Given the description of an element on the screen output the (x, y) to click on. 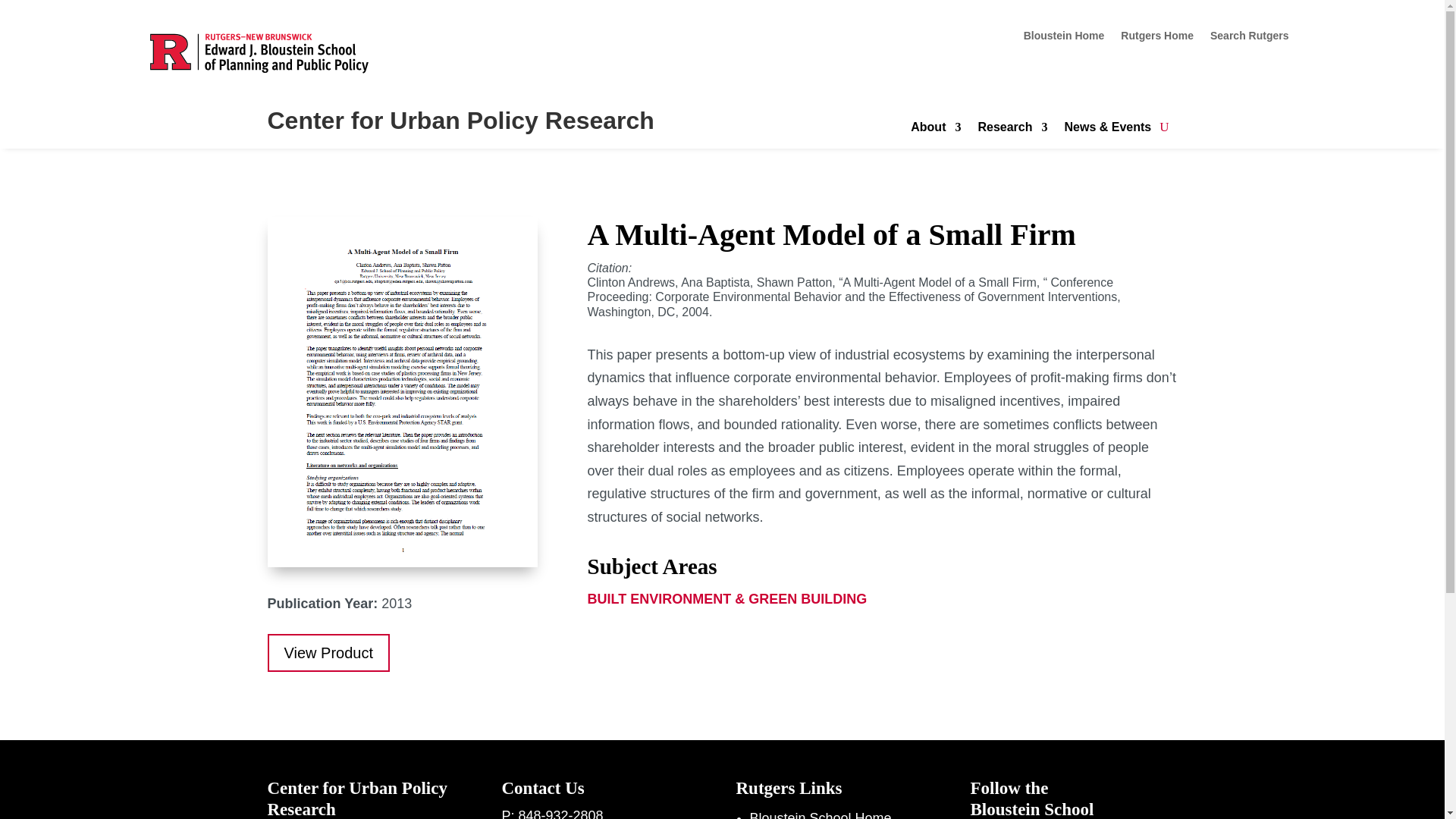
About (935, 130)
Search Rutgers (1248, 38)
Rutgers Home (1157, 38)
Research (1011, 130)
Bloustein Home (1064, 38)
